Given the description of an element on the screen output the (x, y) to click on. 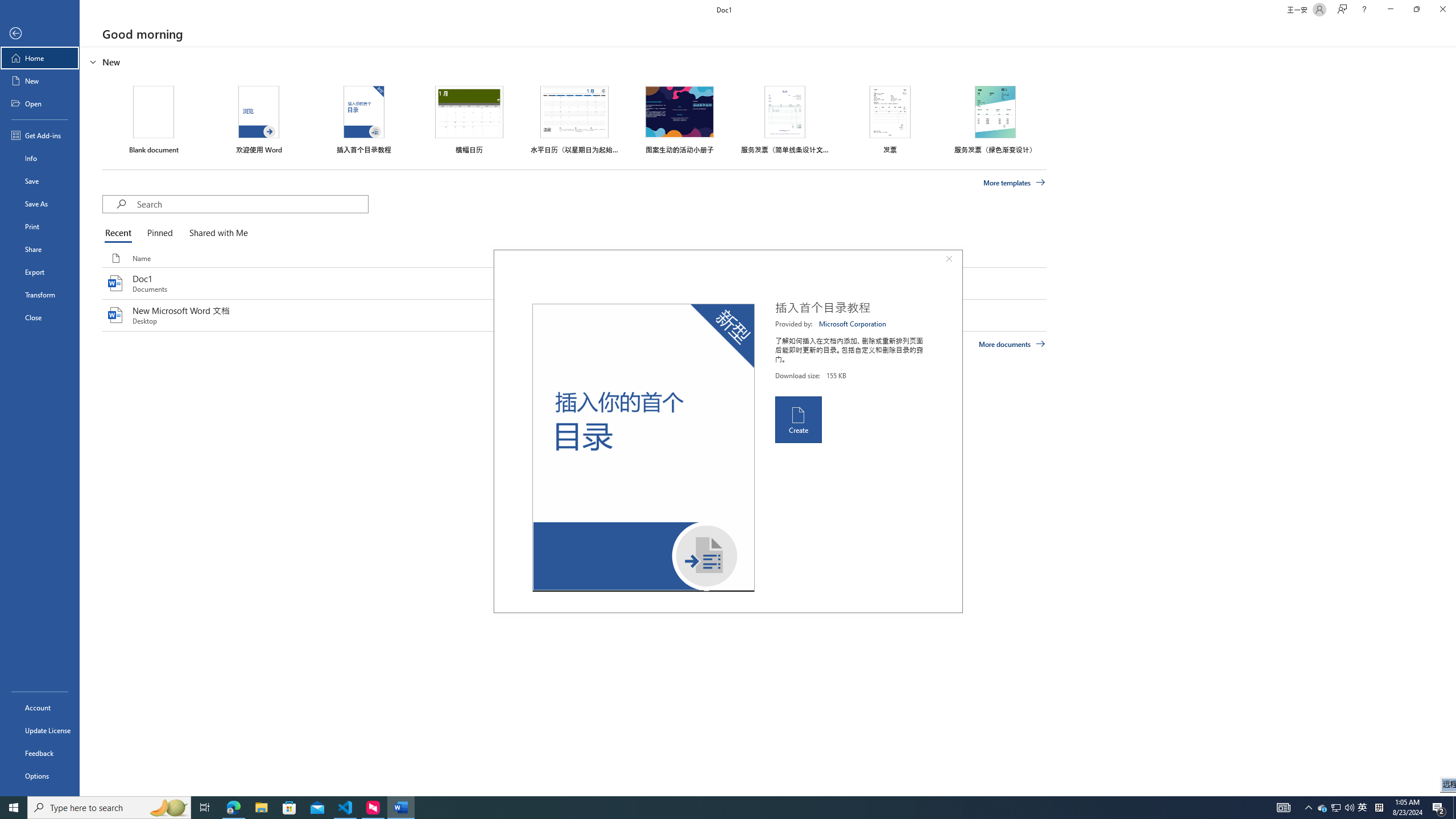
Minimize (1390, 9)
System (6, 6)
